Given the description of an element on the screen output the (x, y) to click on. 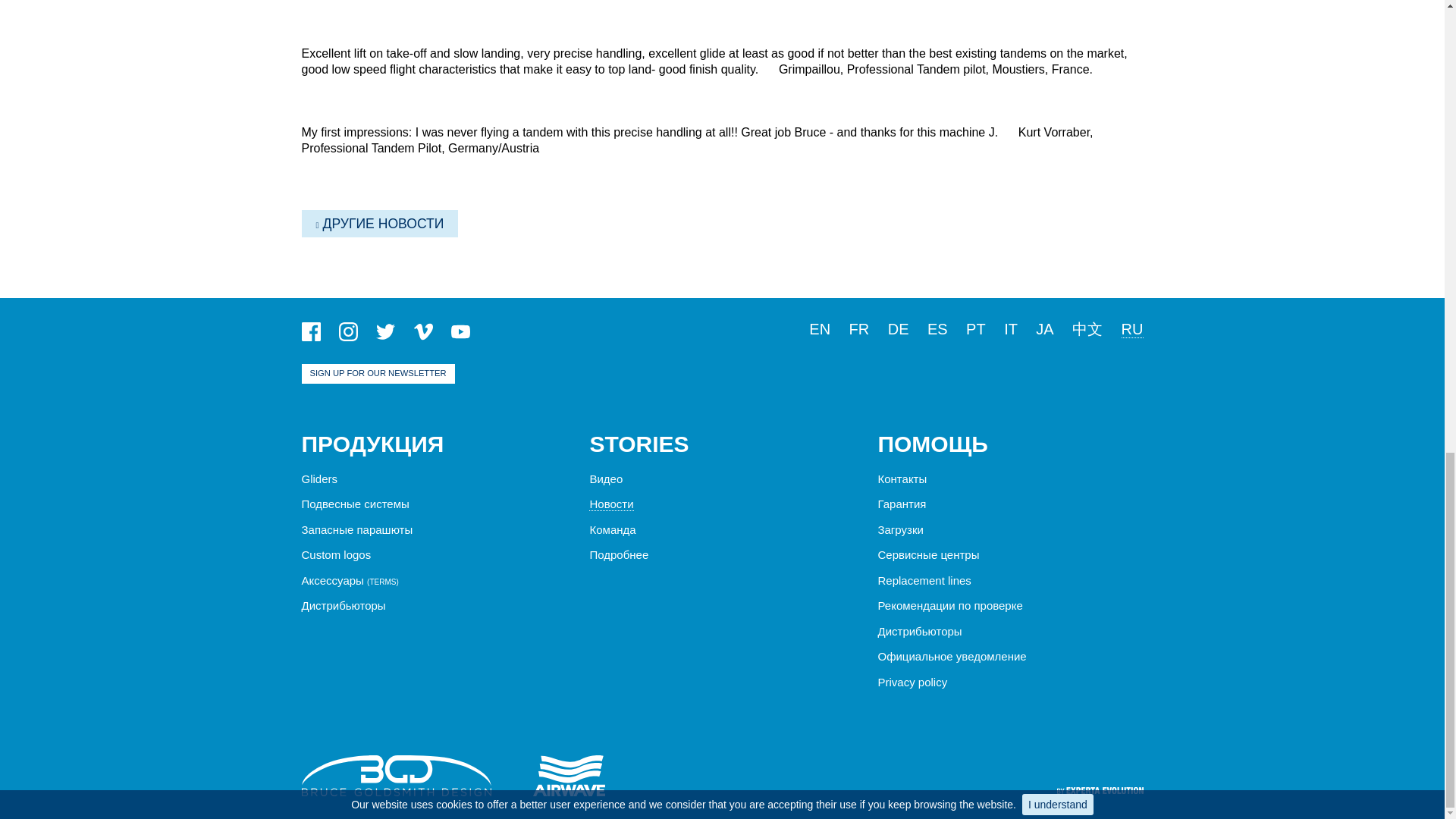
SIGN UP FOR OUR NEWSLETTER (377, 373)
